Given the description of an element on the screen output the (x, y) to click on. 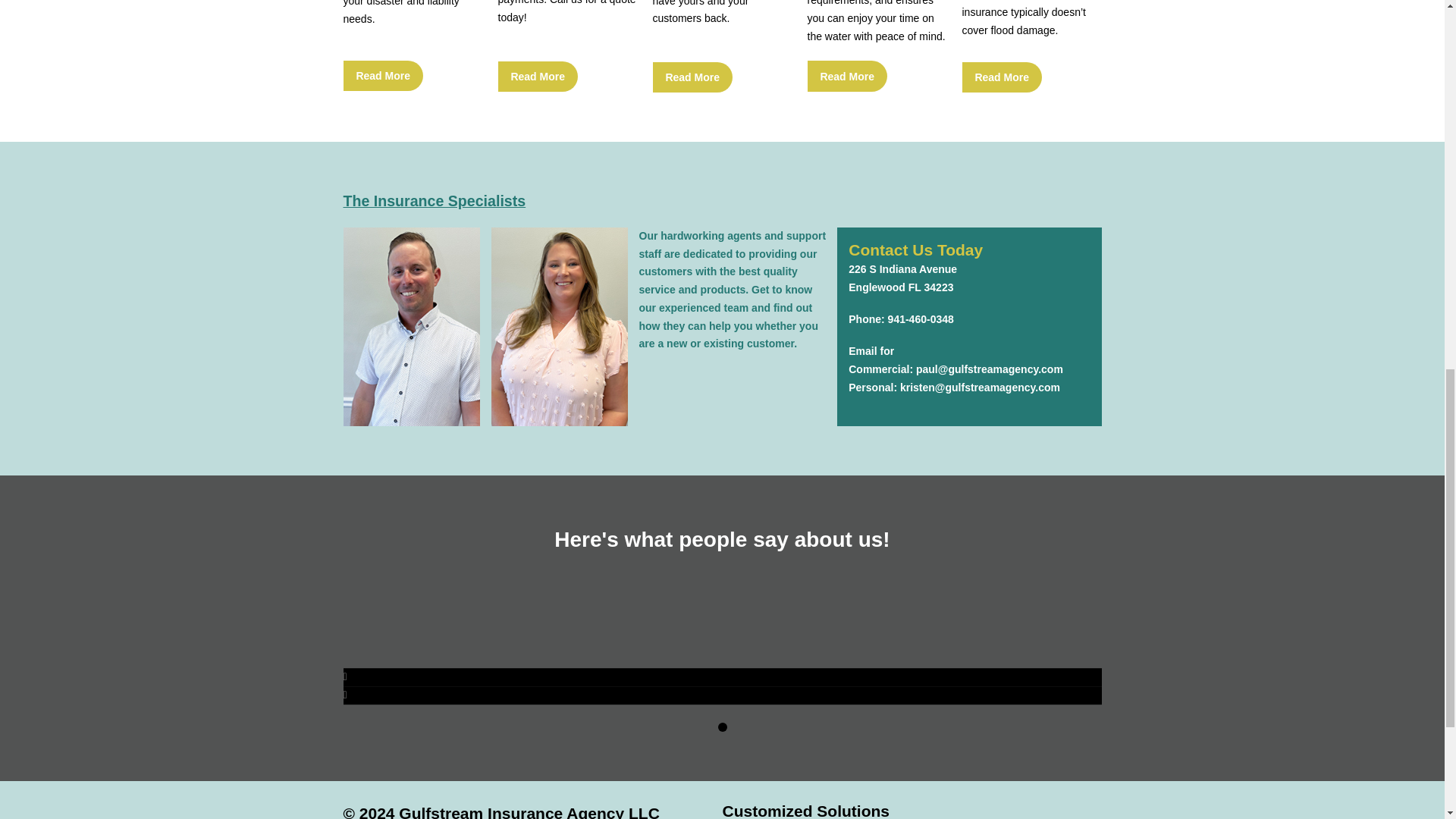
Read More (382, 75)
Read More (1000, 77)
941-460-0348 (920, 318)
Read More (692, 77)
Read More (846, 75)
Read More (536, 76)
